Given the description of an element on the screen output the (x, y) to click on. 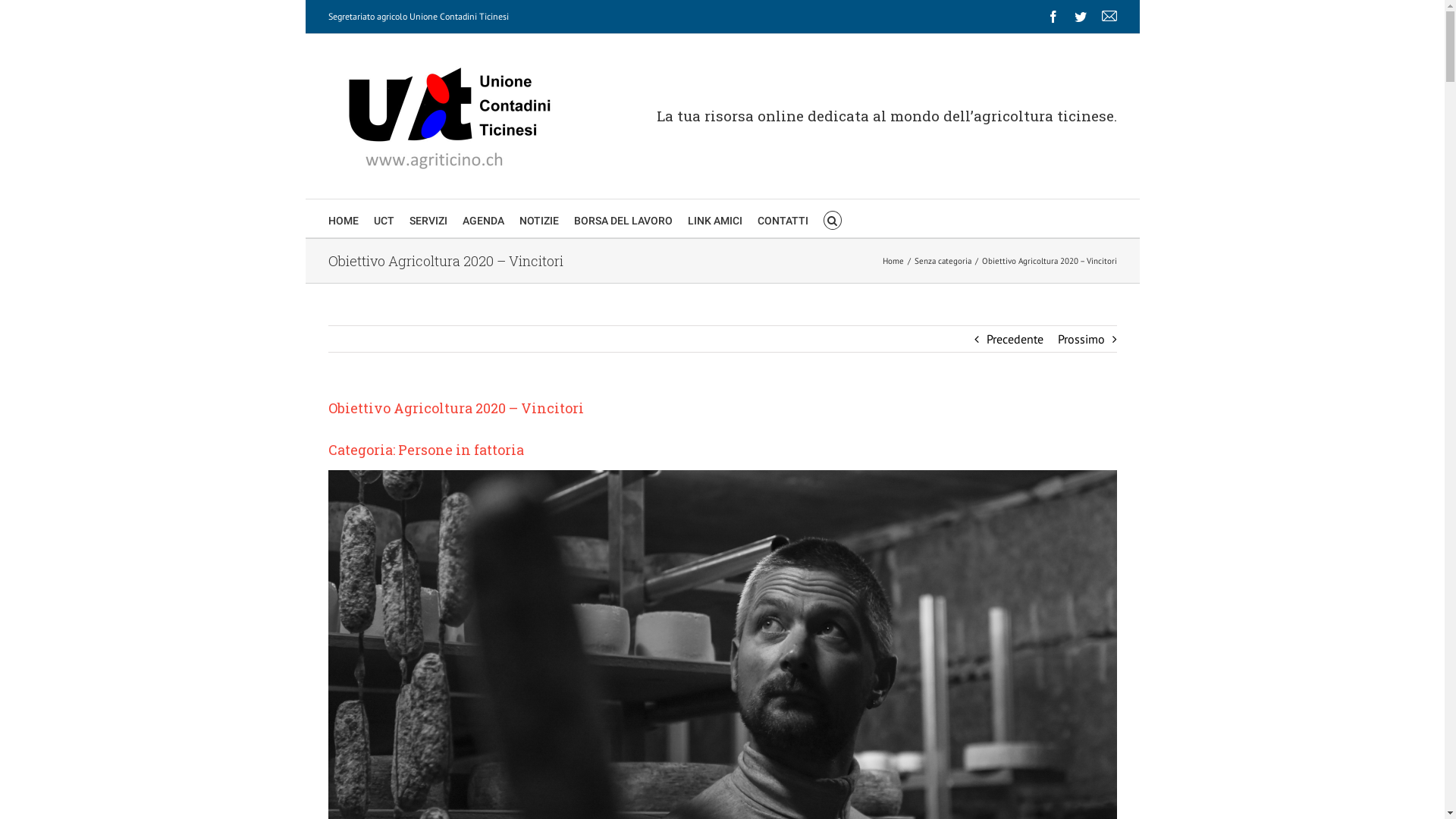
Precedente Element type: text (1013, 338)
facebook Element type: text (1052, 16)
AGENDA Element type: text (483, 218)
Home Element type: text (892, 260)
BORSA DEL LAVORO Element type: text (622, 218)
SERVIZI Element type: text (428, 218)
Newsletter Element type: text (1108, 16)
NOTIZIE Element type: text (538, 218)
Senza categoria Element type: text (942, 260)
Cerca Element type: hover (832, 218)
CONTATTI Element type: text (781, 218)
HOME Element type: text (342, 218)
LINK AMICI Element type: text (714, 218)
UCT Element type: text (383, 218)
twitter Element type: text (1079, 16)
Prossimo Element type: text (1080, 338)
